Given the description of an element on the screen output the (x, y) to click on. 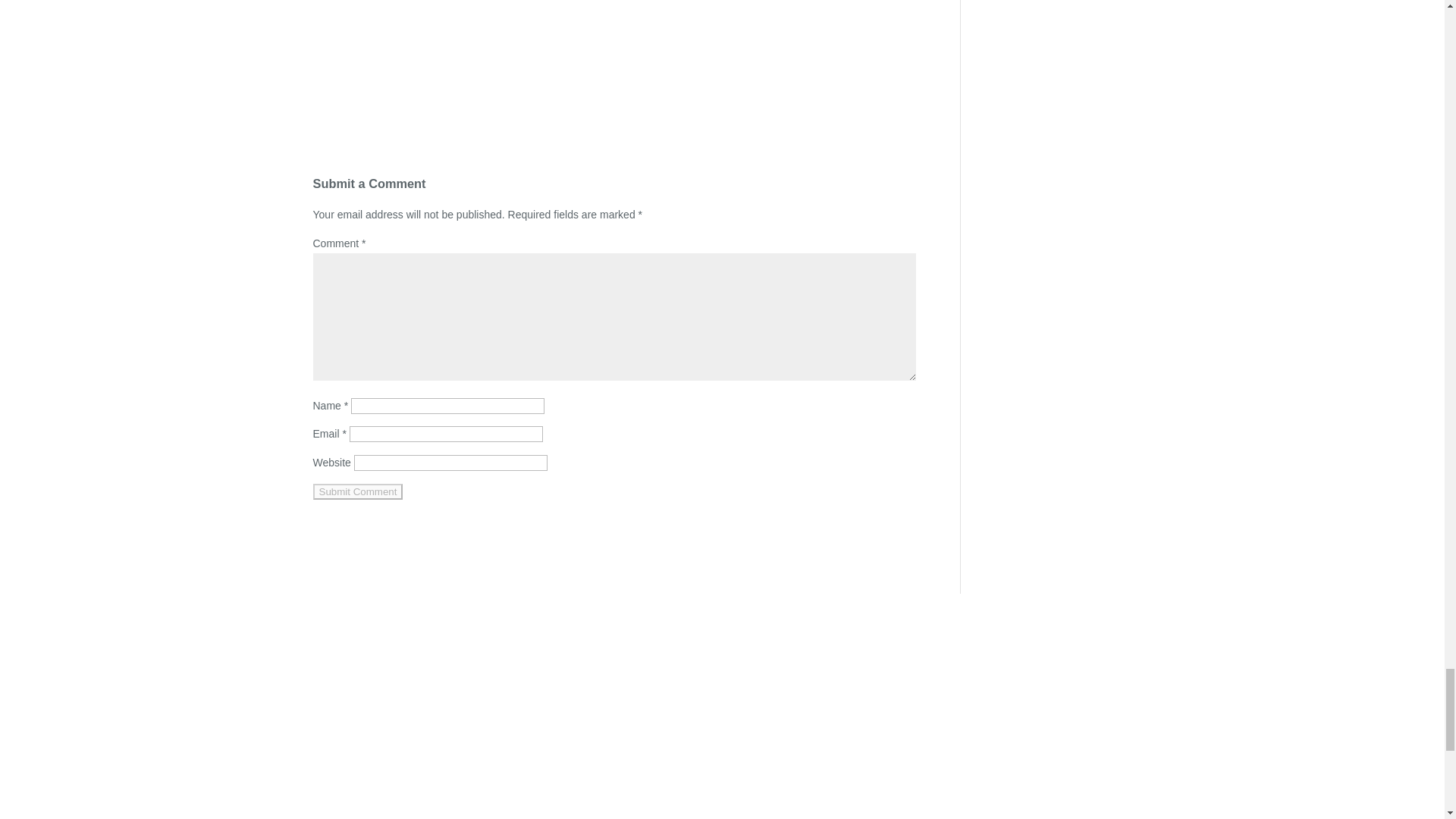
Submit Comment (358, 491)
Submit Comment (358, 491)
